Given the description of an element on the screen output the (x, y) to click on. 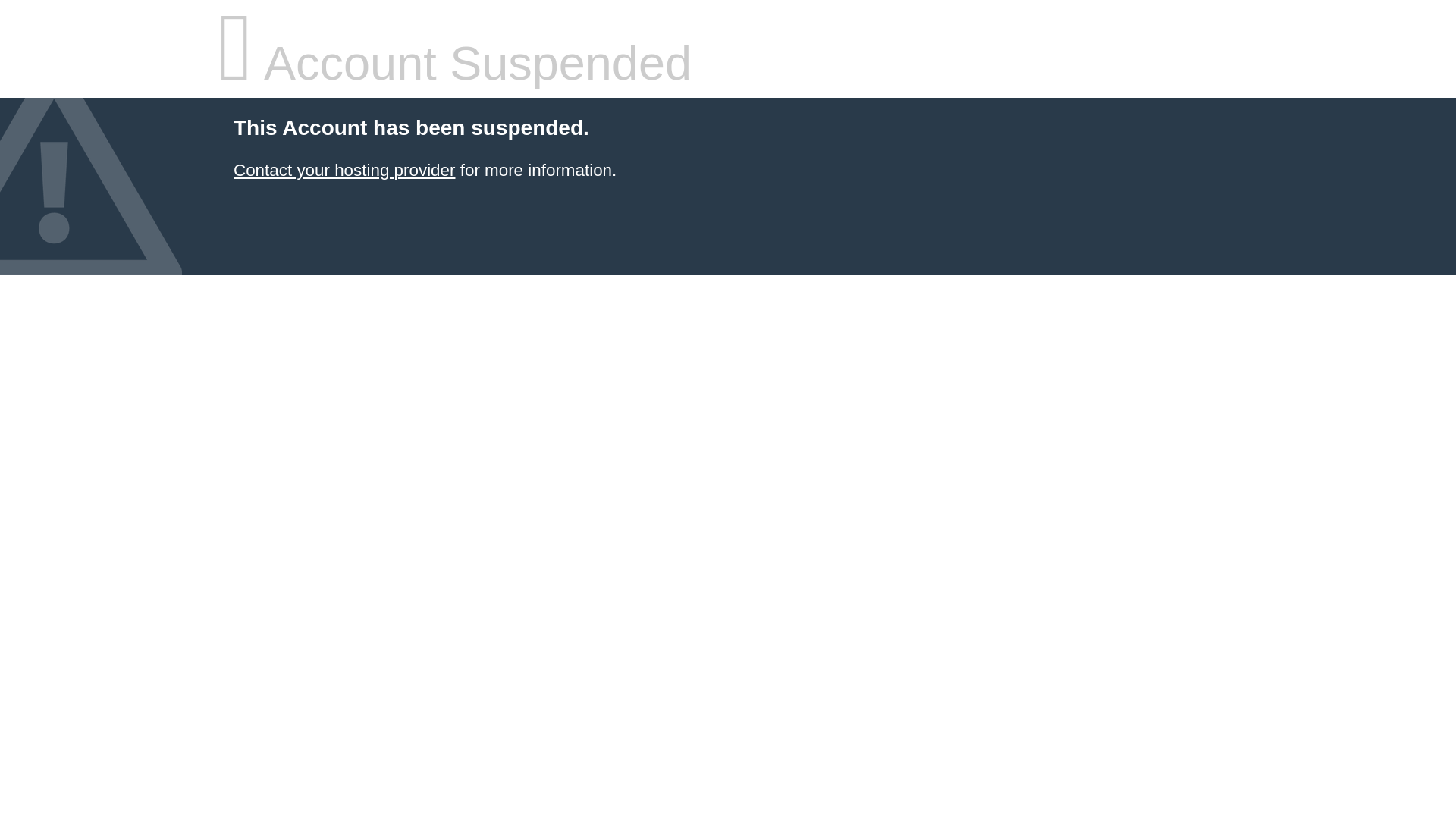
Contact your hosting provider (343, 169)
